Given the description of an element on the screen output the (x, y) to click on. 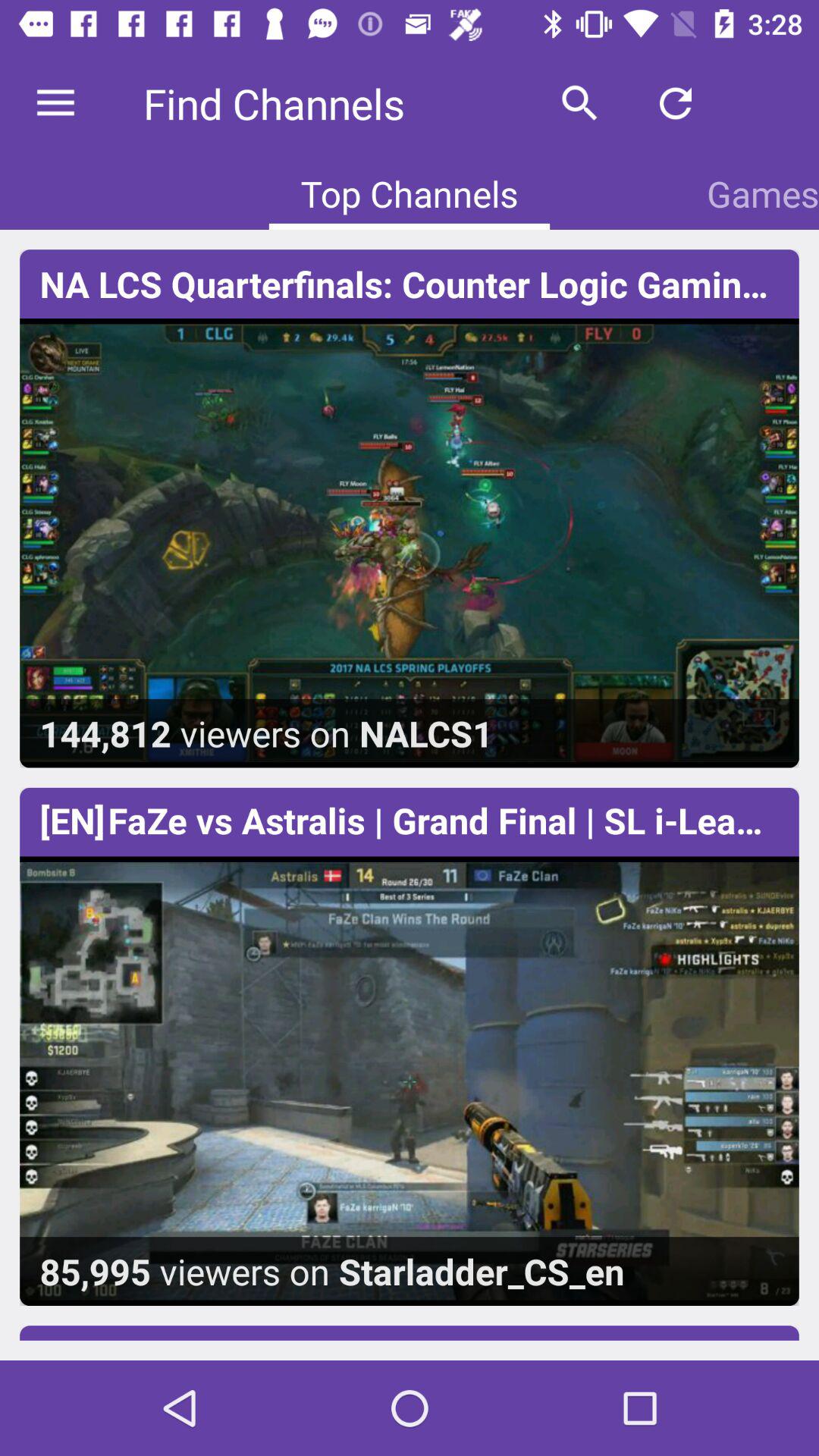
launch the games (762, 193)
